Given the description of an element on the screen output the (x, y) to click on. 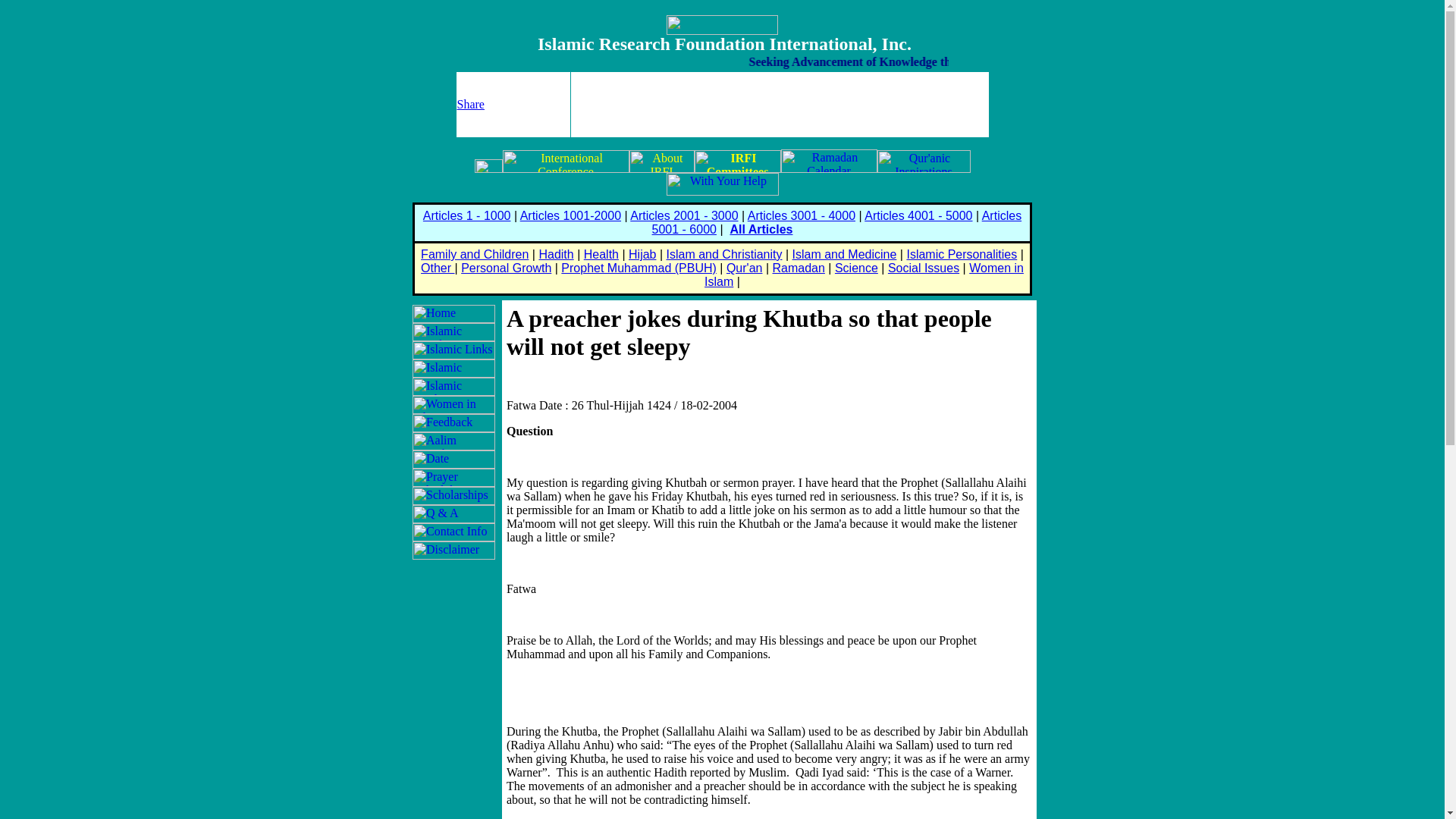
Articles 1001-2000 (570, 215)
Articles 4001 - 5000 (918, 215)
Share (470, 103)
Hadith (555, 254)
Health (600, 254)
Articles 1 - 1000 (467, 215)
Personal Growth (506, 267)
Family and Children (474, 254)
Articles 5001 - 6000 (837, 222)
All Articles (760, 228)
